Given the description of an element on the screen output the (x, y) to click on. 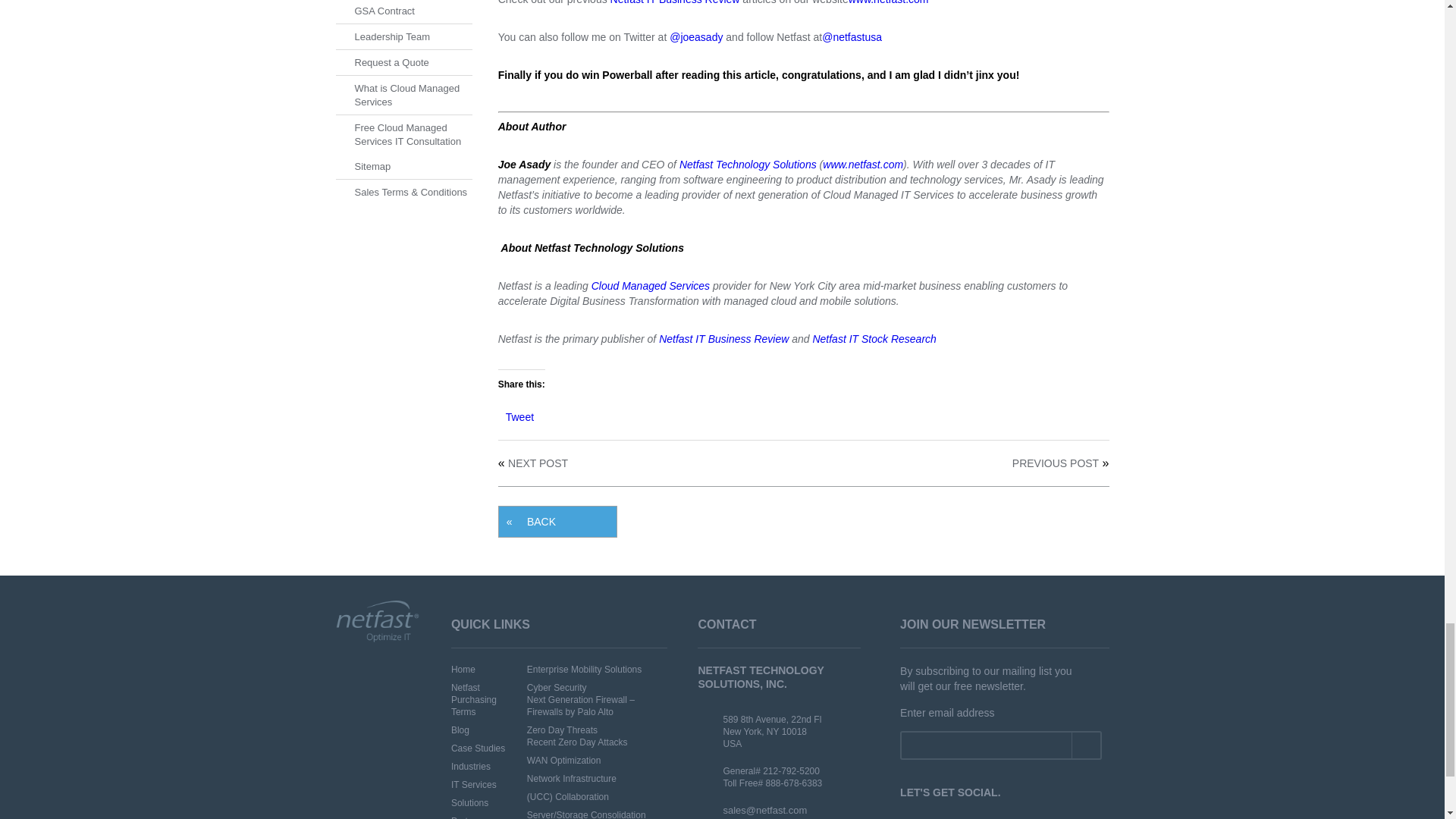
Submit (1085, 745)
